Given the description of an element on the screen output the (x, y) to click on. 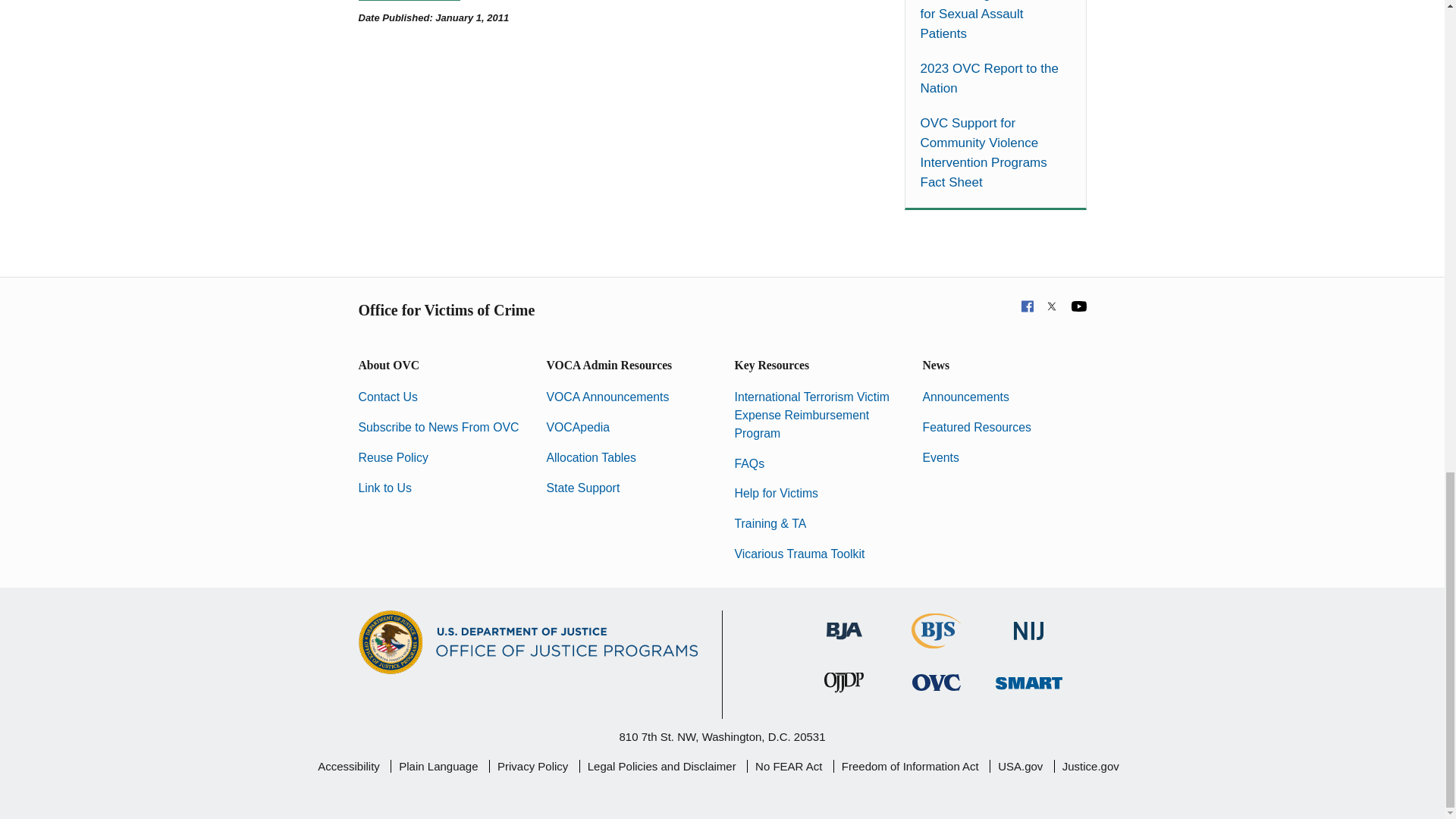
2023 OVC Report to the Nation (995, 78)
